Given the description of an element on the screen output the (x, y) to click on. 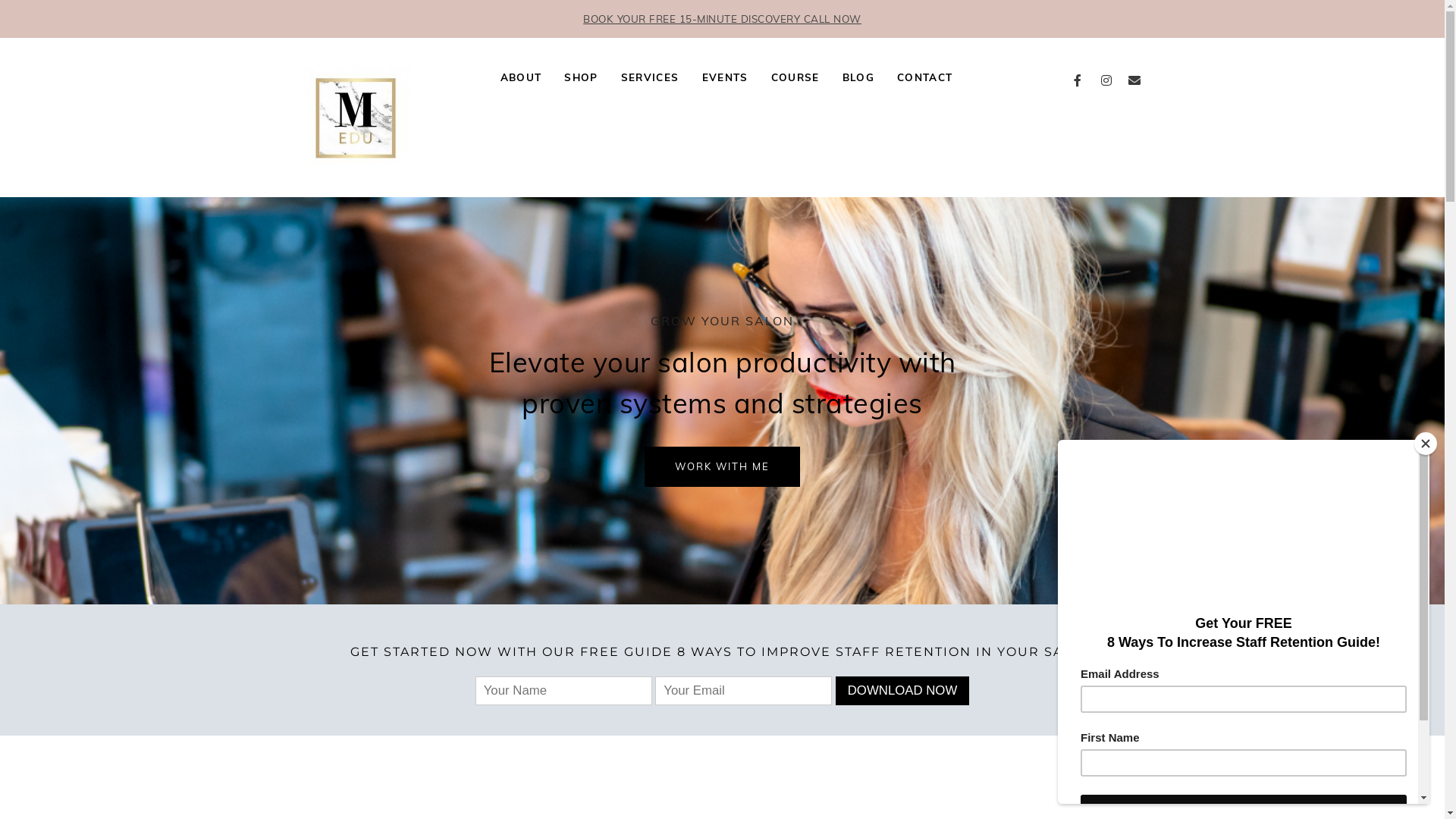
SERVICES Element type: text (649, 76)
CONTACT Element type: text (924, 76)
ABOUT Element type: text (521, 76)
BOOK YOUR FREE 15-MINUTE DISCOVERY CALL NOW Element type: text (722, 18)
WORK WITH ME Element type: text (722, 466)
COURSE Element type: text (795, 76)
EVENTS Element type: text (724, 76)
SHOP Element type: text (580, 76)
DOWNLOAD NOW Element type: text (902, 690)
BLOG Element type: text (858, 76)
